Given the description of an element on the screen output the (x, y) to click on. 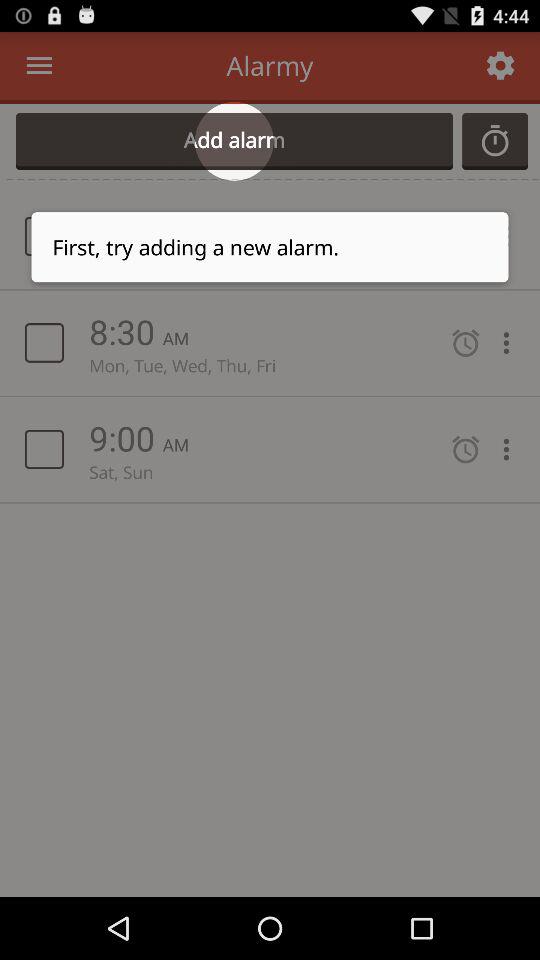
select the item next to the add alarm item (495, 141)
